Given the description of an element on the screen output the (x, y) to click on. 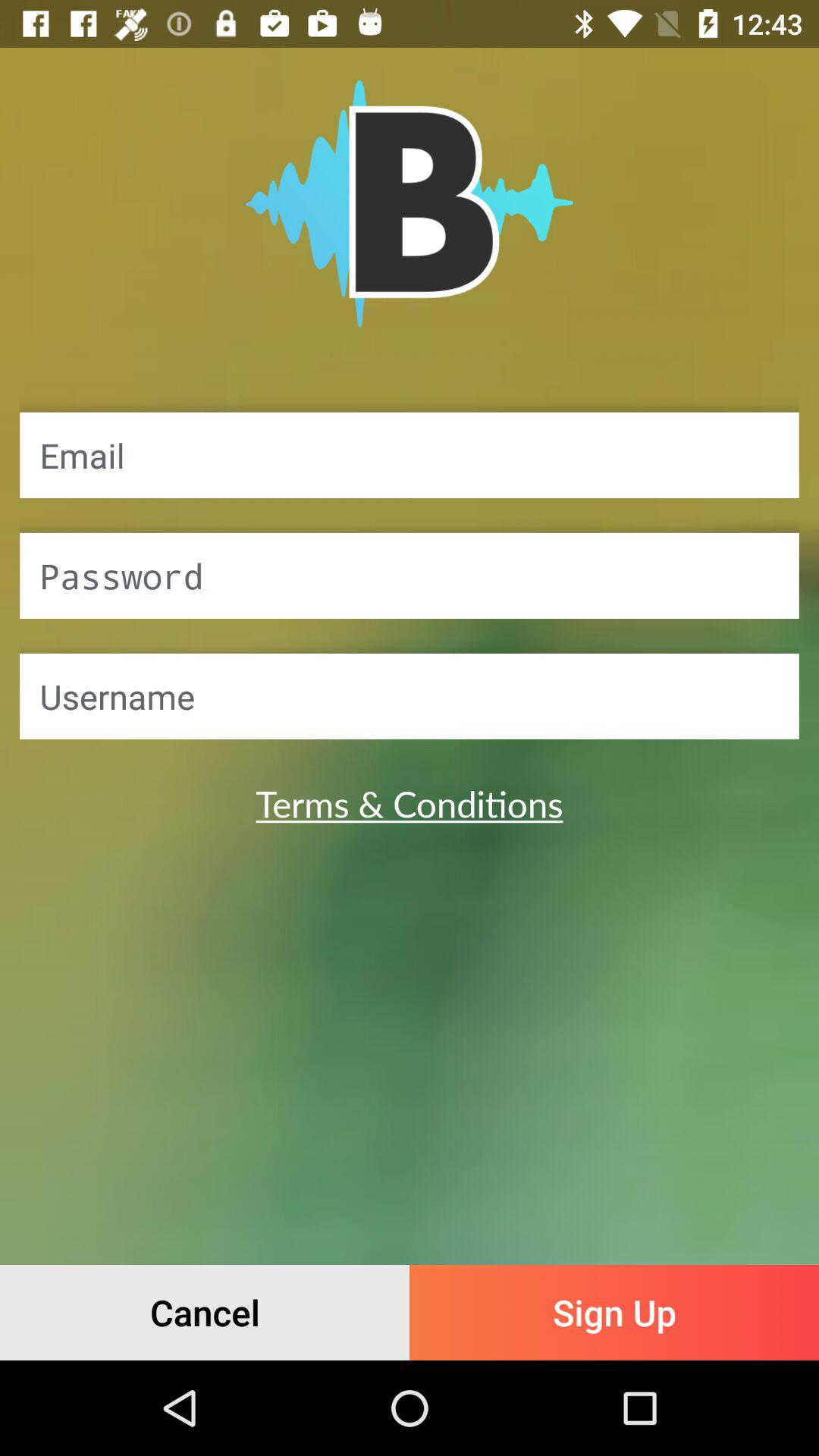
launch the item below terms & conditions item (614, 1312)
